Given the description of an element on the screen output the (x, y) to click on. 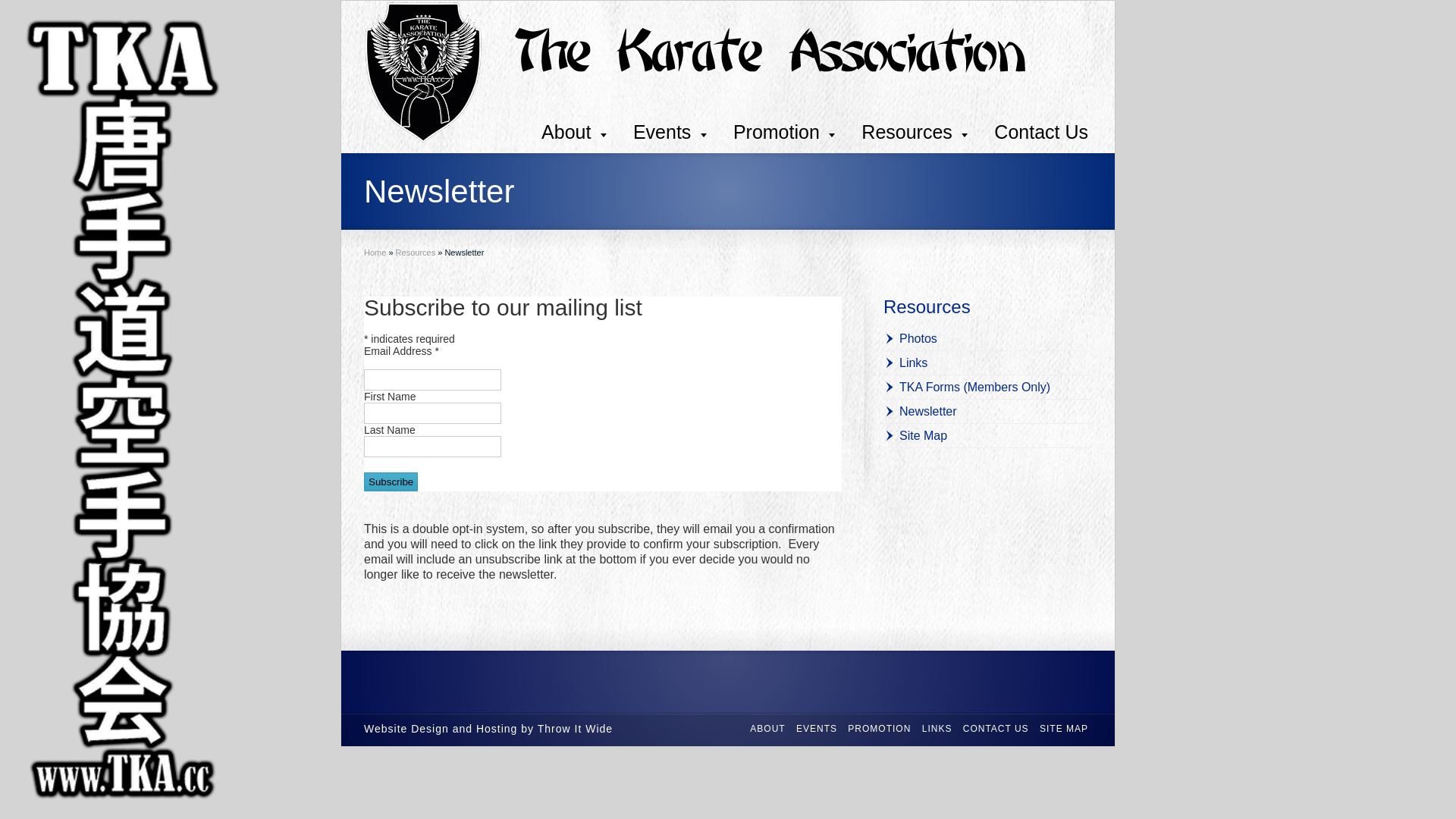
Contact Us Element type: text (1040, 132)
Resources Element type: text (415, 252)
Newsletter Element type: text (920, 410)
PROMOTION Element type: text (879, 728)
Resources Element type: text (926, 306)
ABOUT Element type: text (767, 728)
Subscribe Element type: text (390, 481)
Links Element type: text (905, 362)
CONTACT US Element type: text (995, 728)
Resources Element type: text (914, 132)
Promotion Element type: text (783, 132)
Throw It Wide Element type: text (574, 728)
TKA Forms (Members Only) Element type: text (966, 386)
Photos Element type: text (910, 338)
Events Element type: text (669, 132)
About Element type: text (574, 132)
Site Map Element type: text (915, 435)
EVENTS Element type: text (816, 728)
LINKS Element type: text (937, 728)
Home Element type: text (374, 252)
SITE MAP Element type: text (1063, 728)
